Given the description of an element on the screen output the (x, y) to click on. 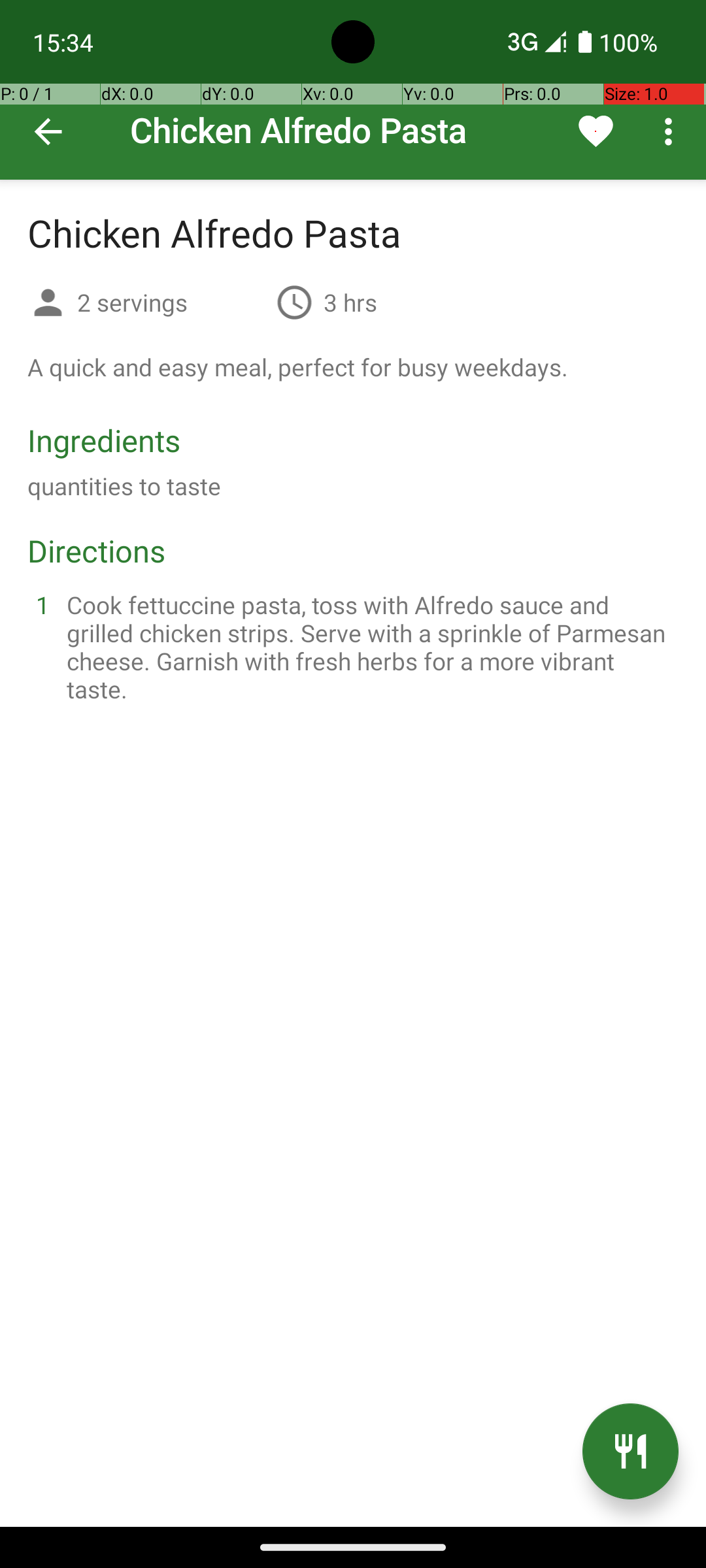
Chicken Alfredo Pasta Element type: android.widget.FrameLayout (353, 89)
Remove from favorites Element type: android.widget.Button (595, 131)
2 servings Element type: android.widget.TextView (170, 301)
3 hrs Element type: android.widget.TextView (350, 301)
quantities to taste Element type: android.widget.TextView (123, 485)
Cook fettuccine pasta, toss with Alfredo sauce and grilled chicken strips. Serve with a sprinkle of Parmesan cheese. Garnish with fresh herbs for a more vibrant taste. Element type: android.widget.TextView (368, 646)
